Given the description of an element on the screen output the (x, y) to click on. 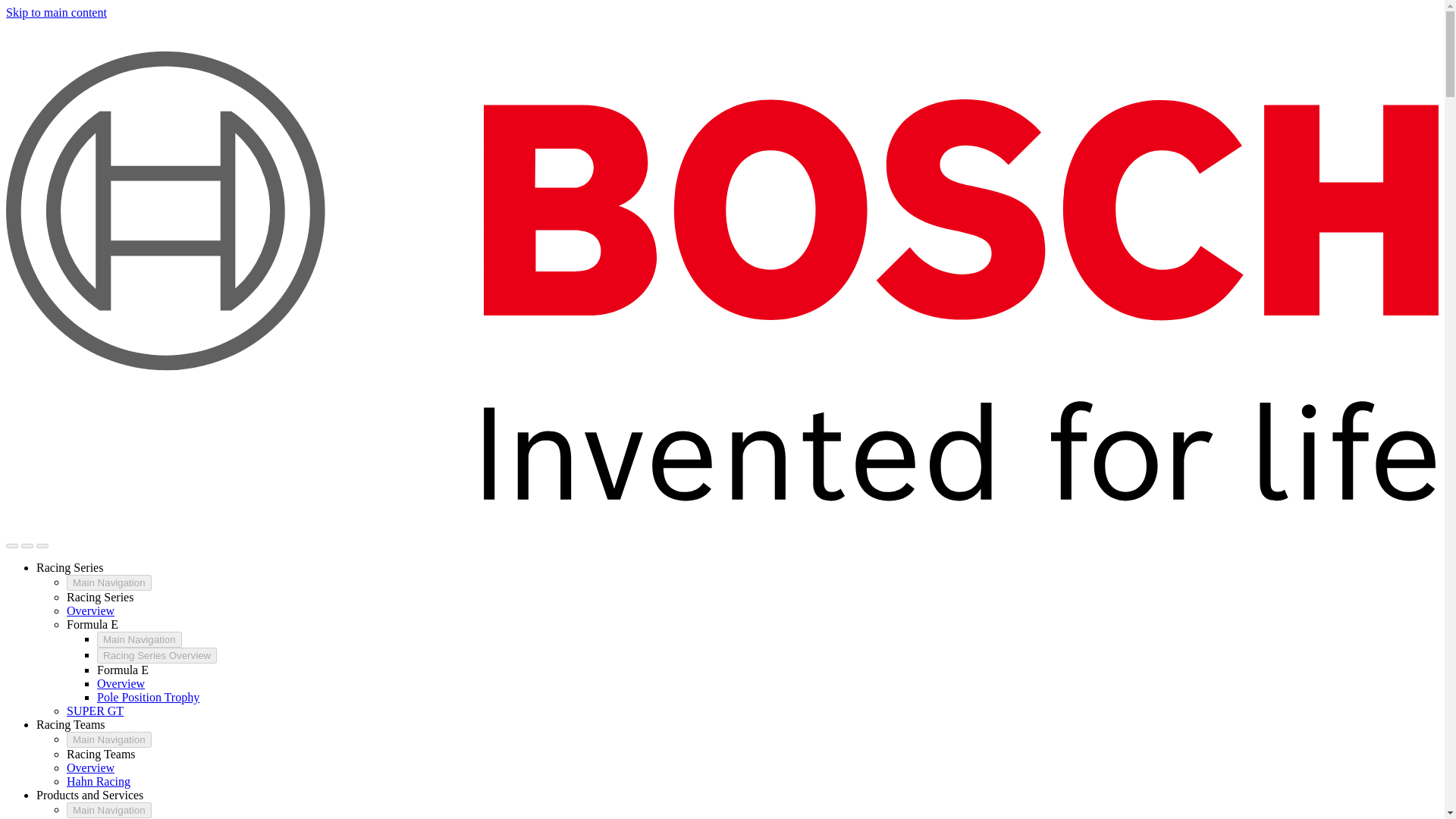
Skip to main content (55, 11)
Racing Series Overview (156, 655)
Racing Teams (70, 724)
Overview (120, 683)
Main Navigation (108, 582)
Formula E (91, 624)
Overview (90, 767)
Main Navigation (108, 810)
Main Navigation (108, 739)
Main Navigation (139, 639)
Products and Services (89, 794)
Pole Position Trophy (148, 697)
Select a language (27, 545)
Racing Series (69, 567)
Overview (90, 610)
